Given the description of an element on the screen output the (x, y) to click on. 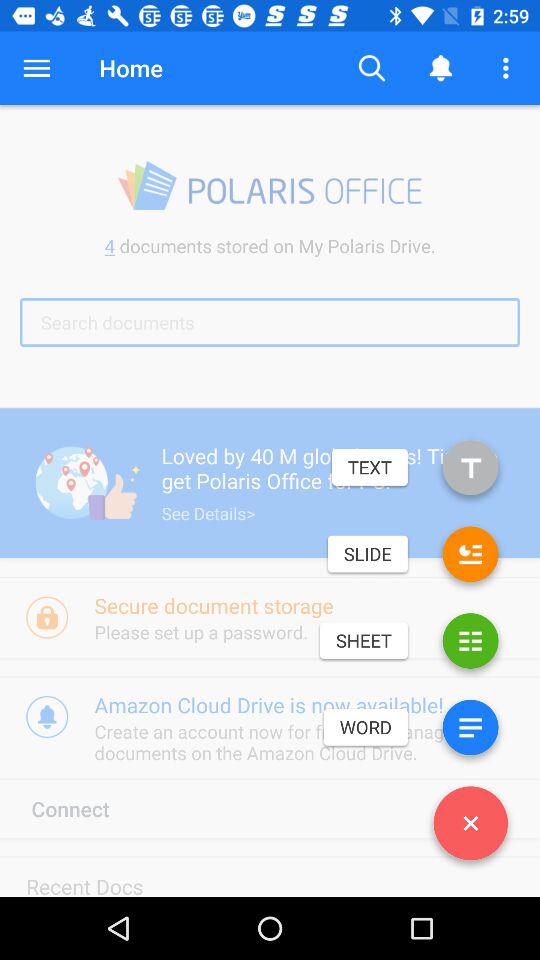
turn on home item (130, 68)
